Given the description of an element on the screen output the (x, y) to click on. 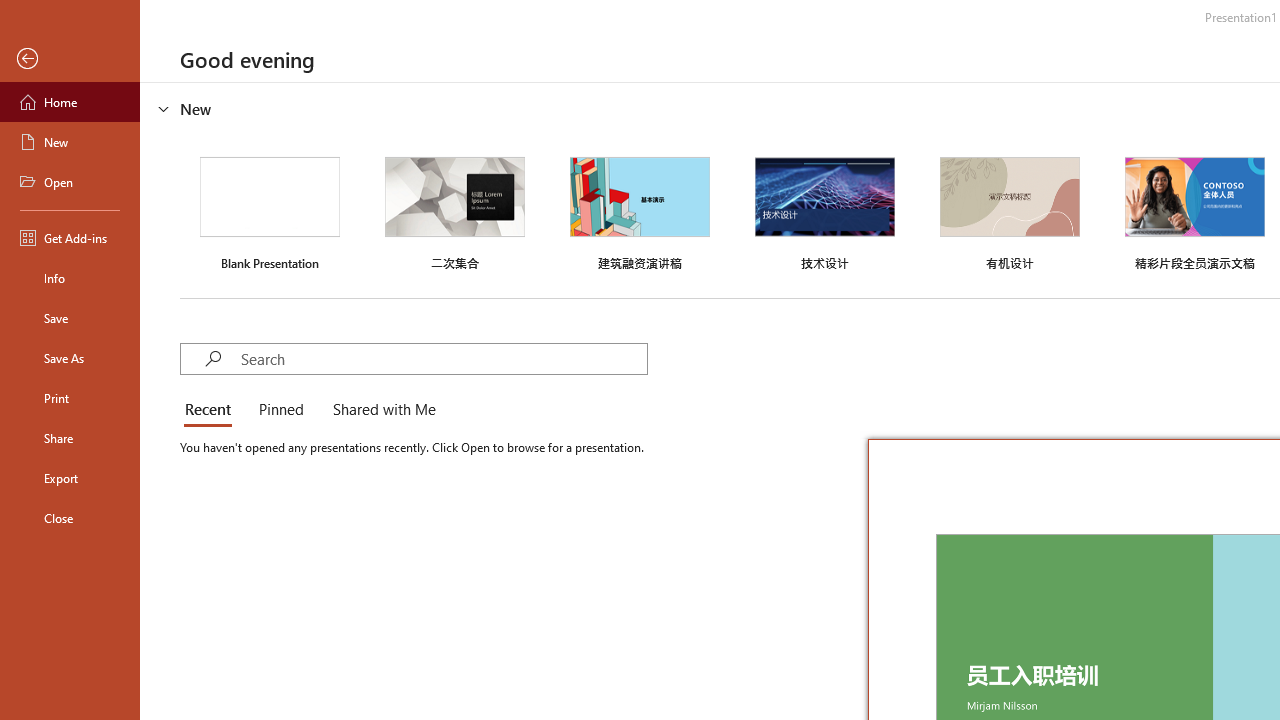
Recent (212, 410)
Back (69, 59)
Info (69, 277)
Hide or show region (164, 108)
Shared with Me (379, 410)
Get Add-ins (69, 237)
